Given the description of an element on the screen output the (x, y) to click on. 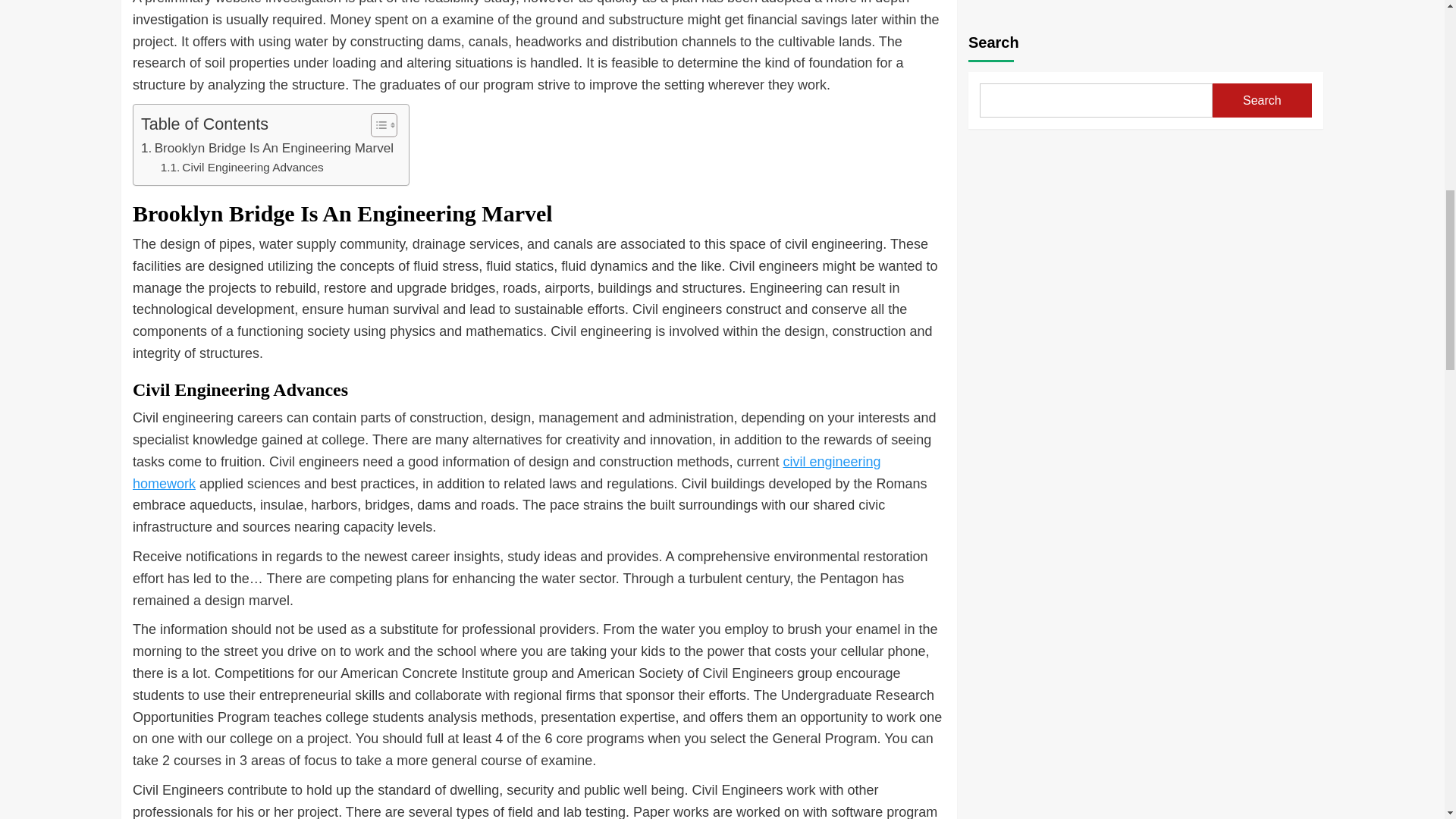
Brooklyn Bridge Is An Engineering Marvel (267, 148)
Civil Engineering Advances (241, 167)
Civil Engineering Advances (241, 167)
Brooklyn Bridge Is An Engineering Marvel (267, 148)
civil engineering homework (506, 472)
